Given the description of an element on the screen output the (x, y) to click on. 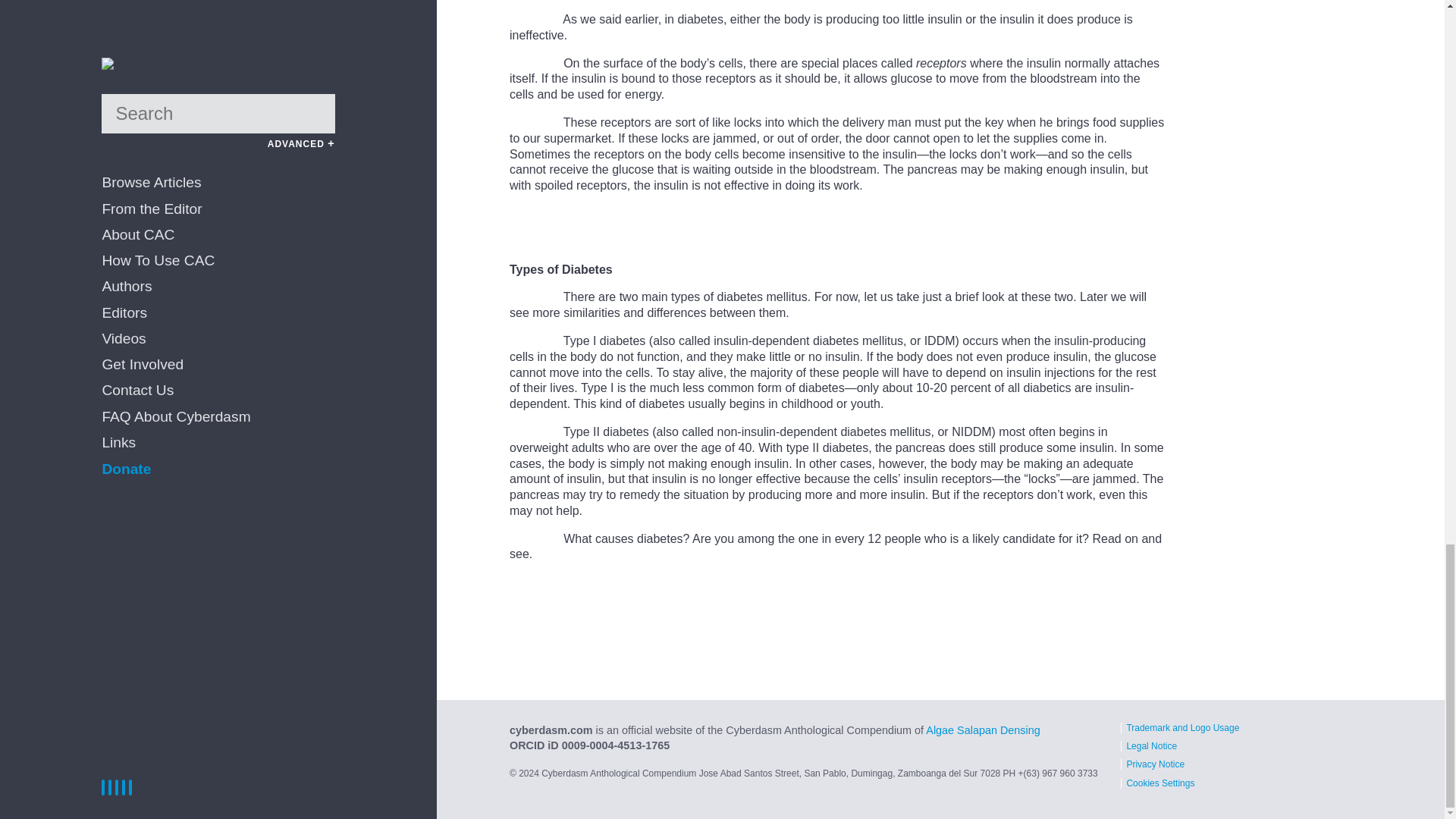
Algae Salapan Densing (982, 729)
